Given the description of an element on the screen output the (x, y) to click on. 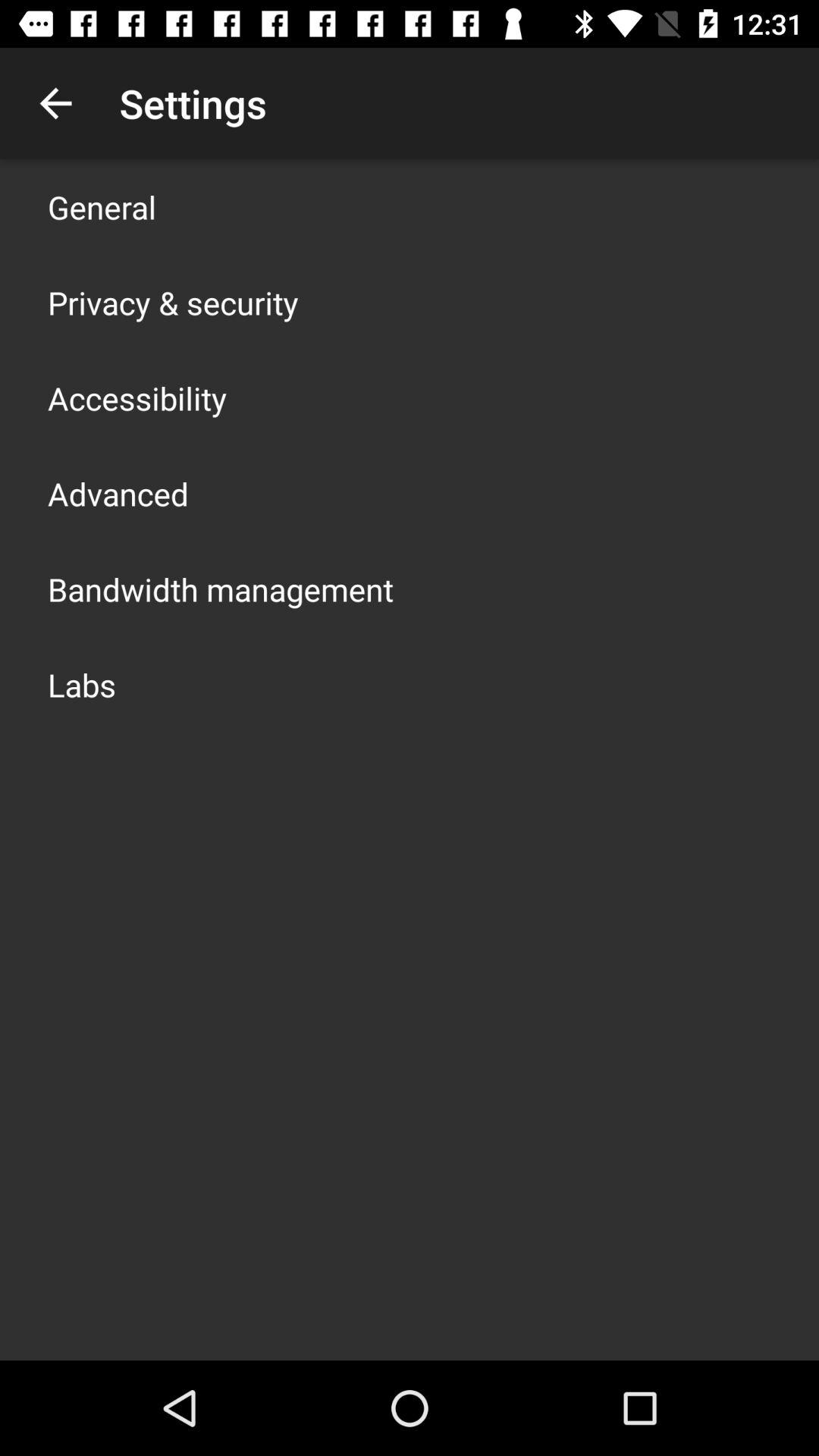
jump to accessibility app (136, 397)
